Given the description of an element on the screen output the (x, y) to click on. 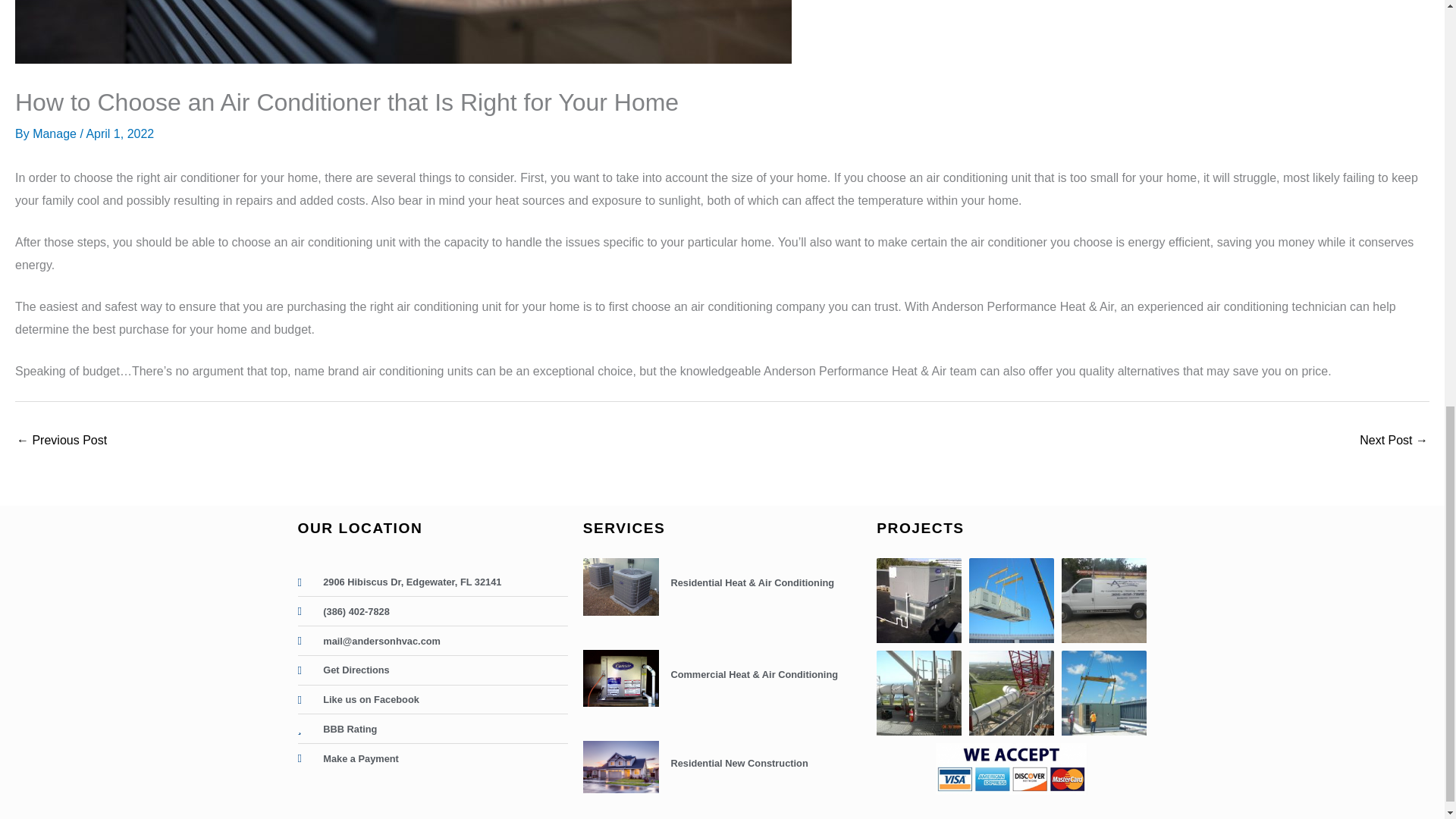
Health and Indoor Air Quality (61, 441)
View all posts by Manage (56, 133)
Keep Your Compressor Clean! (1393, 441)
